Given the description of an element on the screen output the (x, y) to click on. 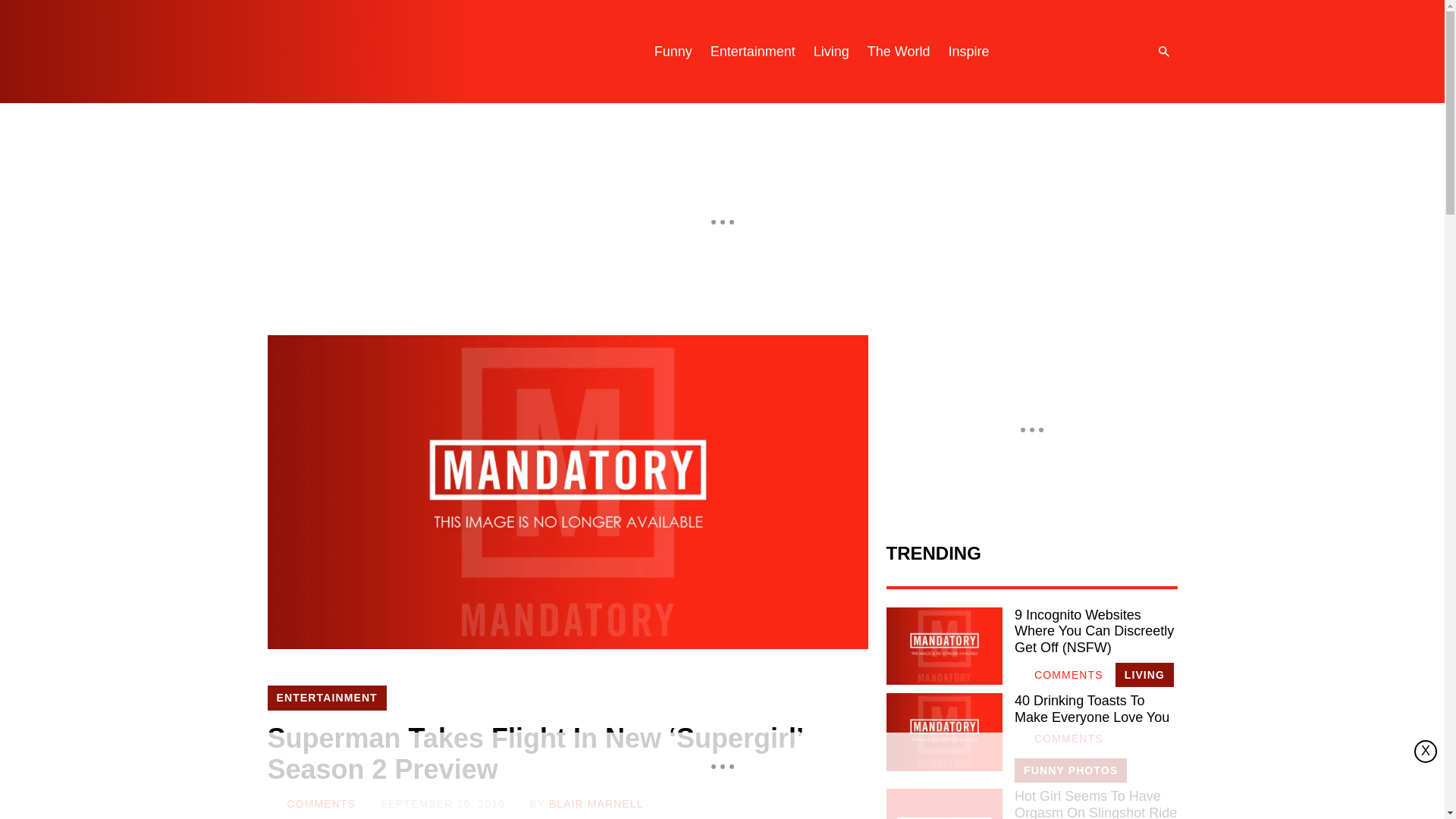
BLAIR MARNELL (595, 803)
40 Drinking Toasts To Make Everyone Love You (1095, 708)
Funny (673, 51)
Living (832, 51)
40 Drinking Toasts To Make Everyone Love You (944, 731)
Instagram (1048, 51)
ENTERTAINMENT (325, 697)
Hot Girl Seems To Have Orgasm On Slingshot Ride (944, 803)
Entertainment (753, 51)
40 Drinking Toasts To Make Everyone Love You (1095, 708)
Hot Girl Seems To Have Orgasm On Slingshot Ride (1095, 803)
Facebook (1109, 51)
Inspire (968, 51)
FUNNY PHOTOS (1070, 770)
The World (899, 51)
